Given the description of an element on the screen output the (x, y) to click on. 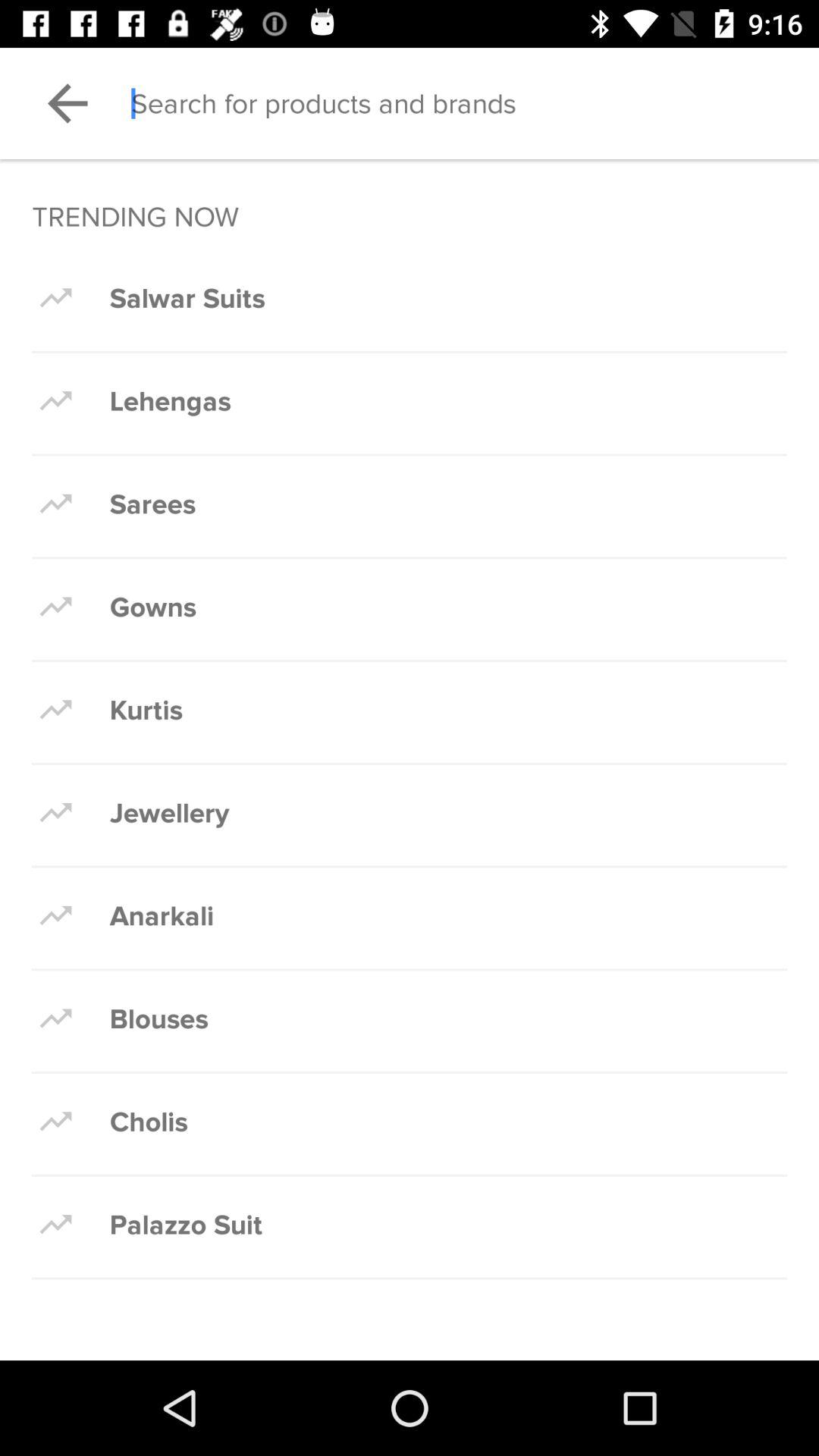
go back (67, 103)
